Given the description of an element on the screen output the (x, y) to click on. 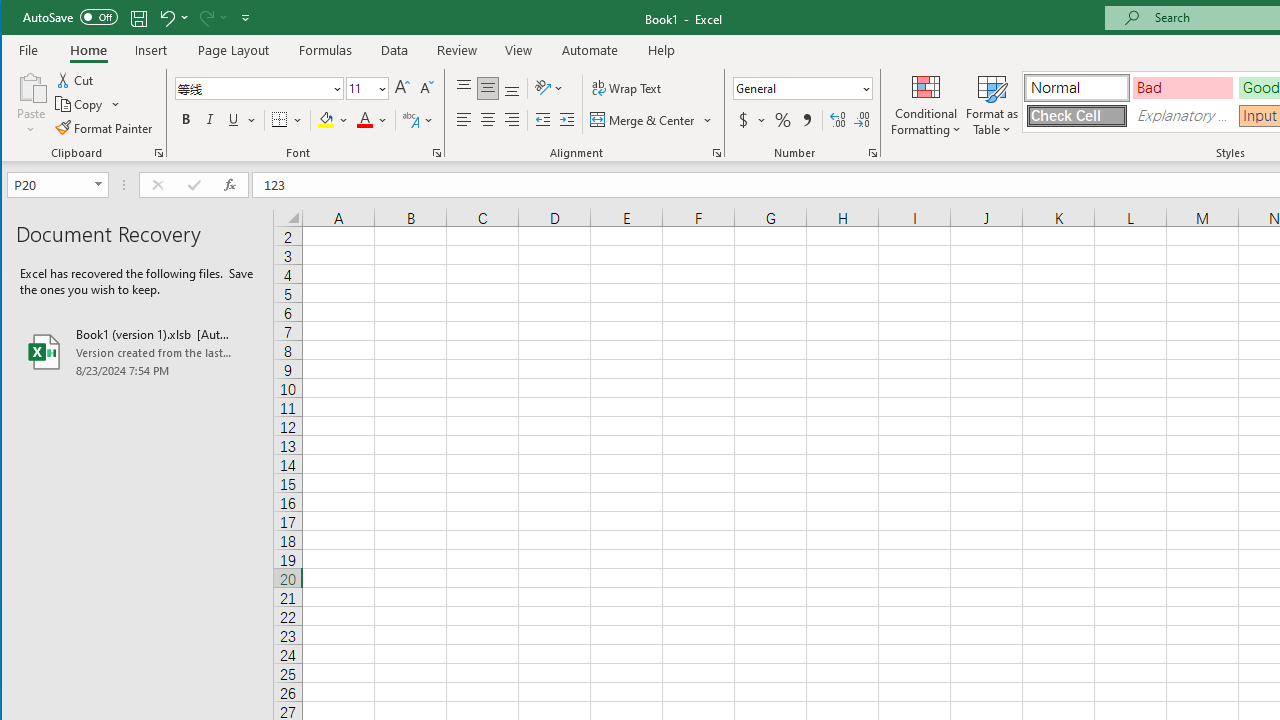
Increase Decimal (837, 119)
Middle Align (488, 88)
Font (253, 88)
Merge & Center (644, 119)
Format Cell Font (436, 152)
Font Color RGB(255, 0, 0) (365, 119)
Accounting Number Format (751, 119)
Increase Font Size (401, 88)
Comma Style (806, 119)
Fill Color RGB(255, 255, 0) (325, 119)
Bold (186, 119)
